Given the description of an element on the screen output the (x, y) to click on. 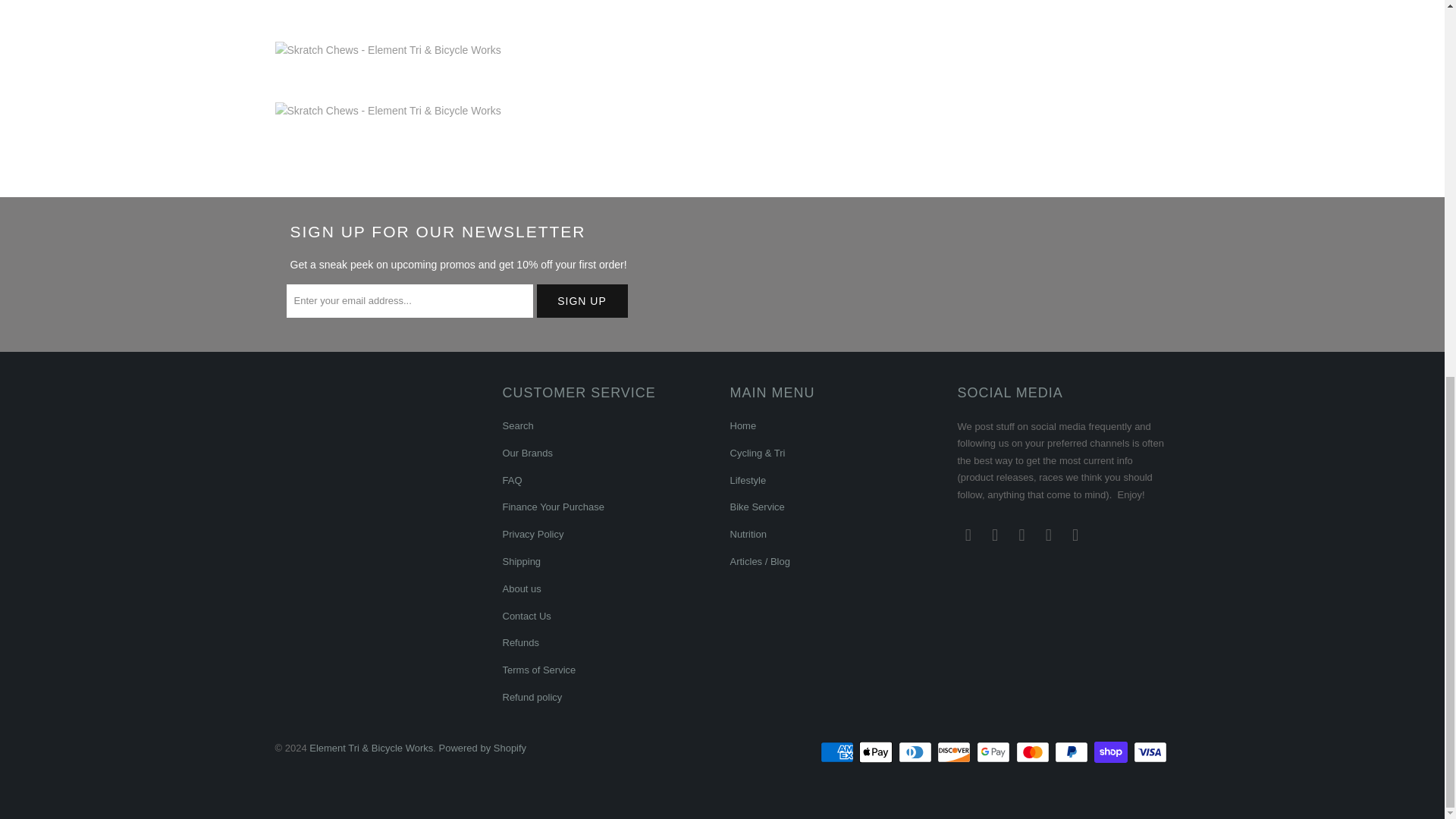
Diners Club (916, 752)
Google Pay (994, 752)
American Express (839, 752)
PayPal (1072, 752)
Sign Up (582, 300)
Mastercard (1034, 752)
Shop Pay (1112, 752)
Discover (955, 752)
Apple Pay (877, 752)
Visa (1150, 752)
